Given the description of an element on the screen output the (x, y) to click on. 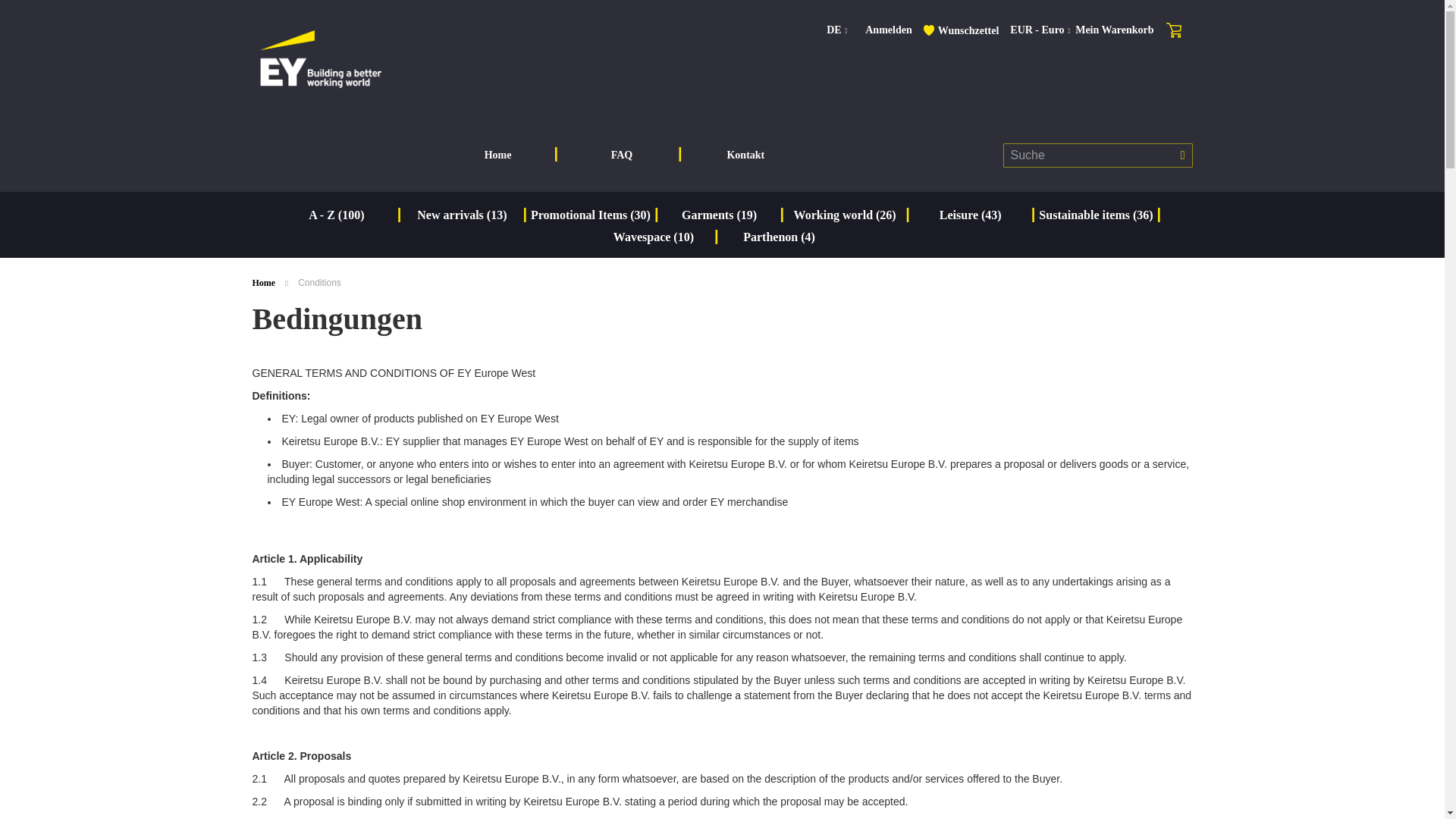
EY logo building a better working world (319, 58)
Home (264, 282)
Home (497, 154)
Zur Homepage (264, 282)
FAQ (621, 154)
Wunschzettel (967, 30)
Kontakt (744, 154)
Anmelden (887, 29)
Mein Warenkorb (1130, 29)
